Given the description of an element on the screen output the (x, y) to click on. 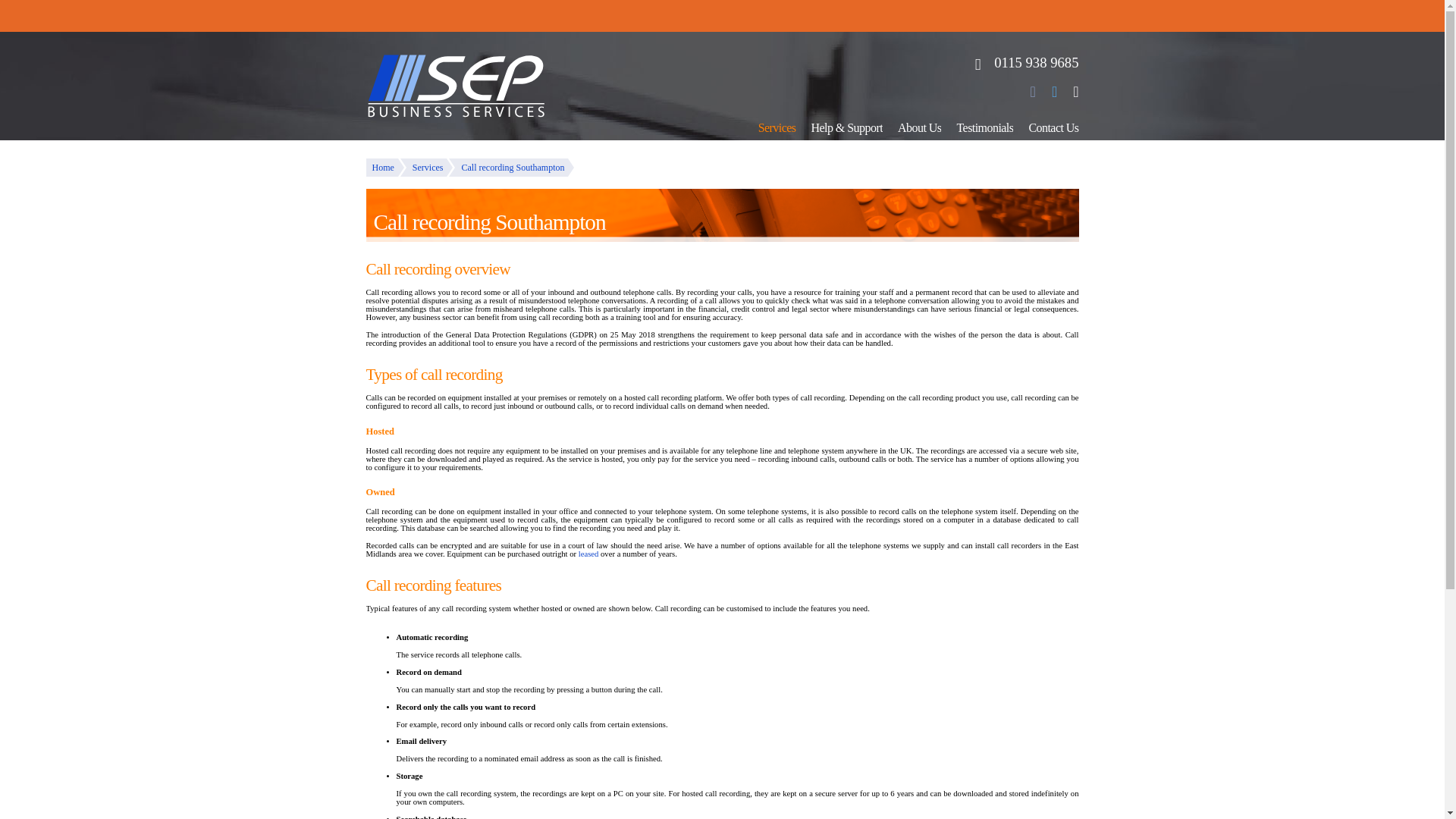
Testimonials (984, 126)
About Us (919, 126)
SEP Business Services (437, 79)
Home (384, 167)
leased (588, 553)
Call recording Southampton (510, 167)
0115 938 9685 (1019, 62)
Services (777, 126)
Services (426, 167)
Contact Us (1052, 126)
